Given the description of an element on the screen output the (x, y) to click on. 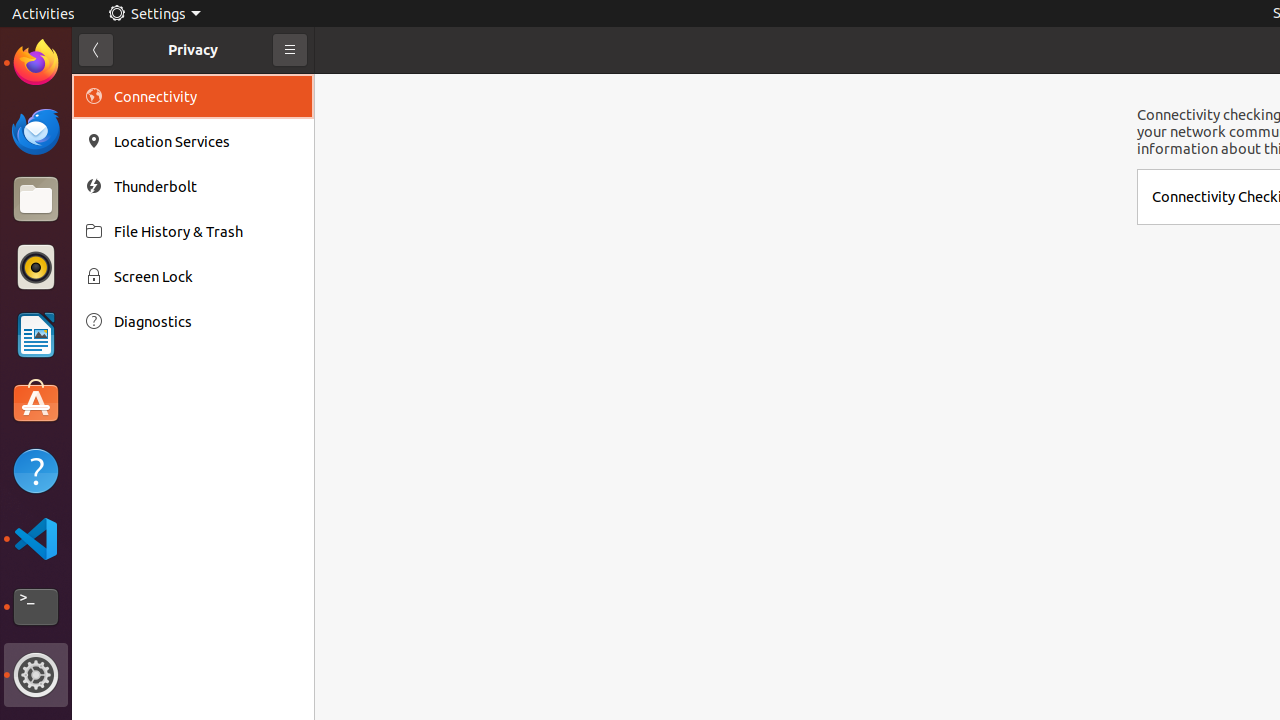
Location Services Element type: label (207, 141)
Settings Element type: push-button (36, 675)
Primary Menu Element type: toggle-button (290, 50)
